Given the description of an element on the screen output the (x, y) to click on. 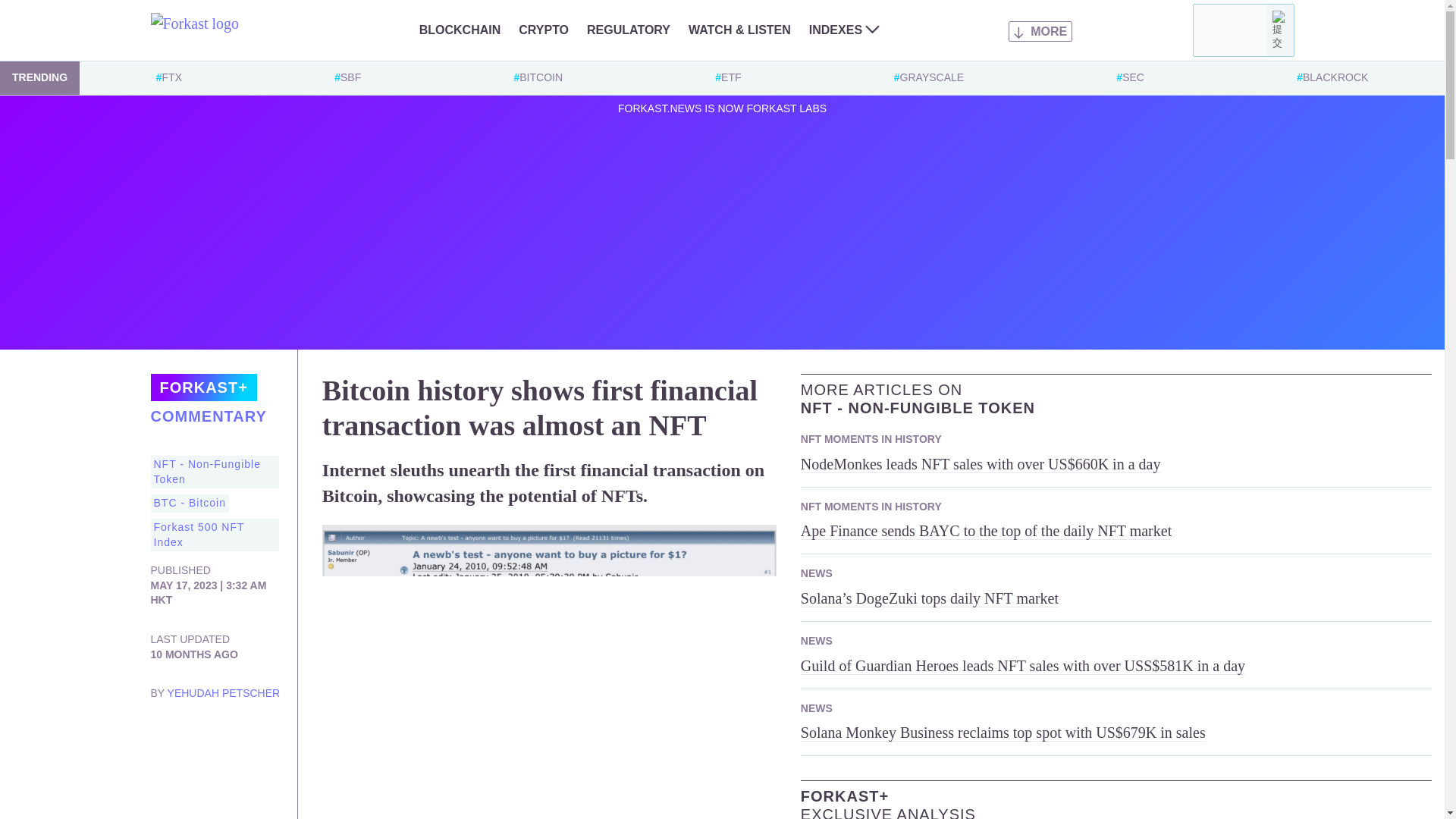
Share on line (192, 767)
Share on whatsapp (161, 767)
BLOCKCHAIN (459, 29)
Share on facebook (222, 737)
Share on linkedin (192, 737)
Posts by Yehudah Petscher (224, 693)
Share on telegram (252, 737)
Share on twitter (161, 737)
